Given the description of an element on the screen output the (x, y) to click on. 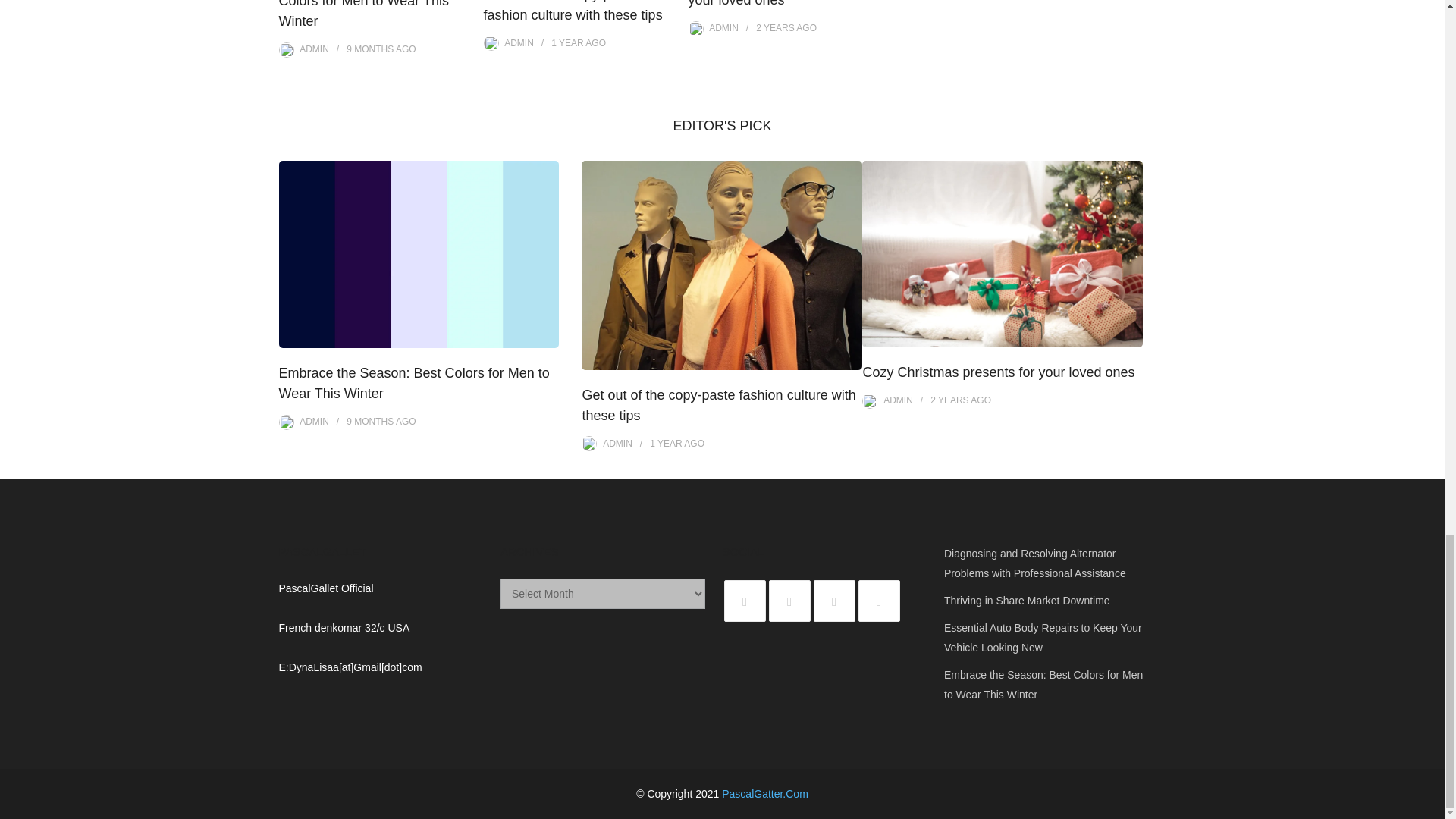
9 MONTHS (369, 49)
Instagram (833, 600)
2 YEARS (774, 27)
Cozy Christmas presents for your loved ones (774, 3)
LinkedIn (879, 600)
ADMIN (314, 49)
Twitter (744, 600)
ADMIN (723, 27)
1 YEAR (567, 42)
ADMIN (518, 42)
